Given the description of an element on the screen output the (x, y) to click on. 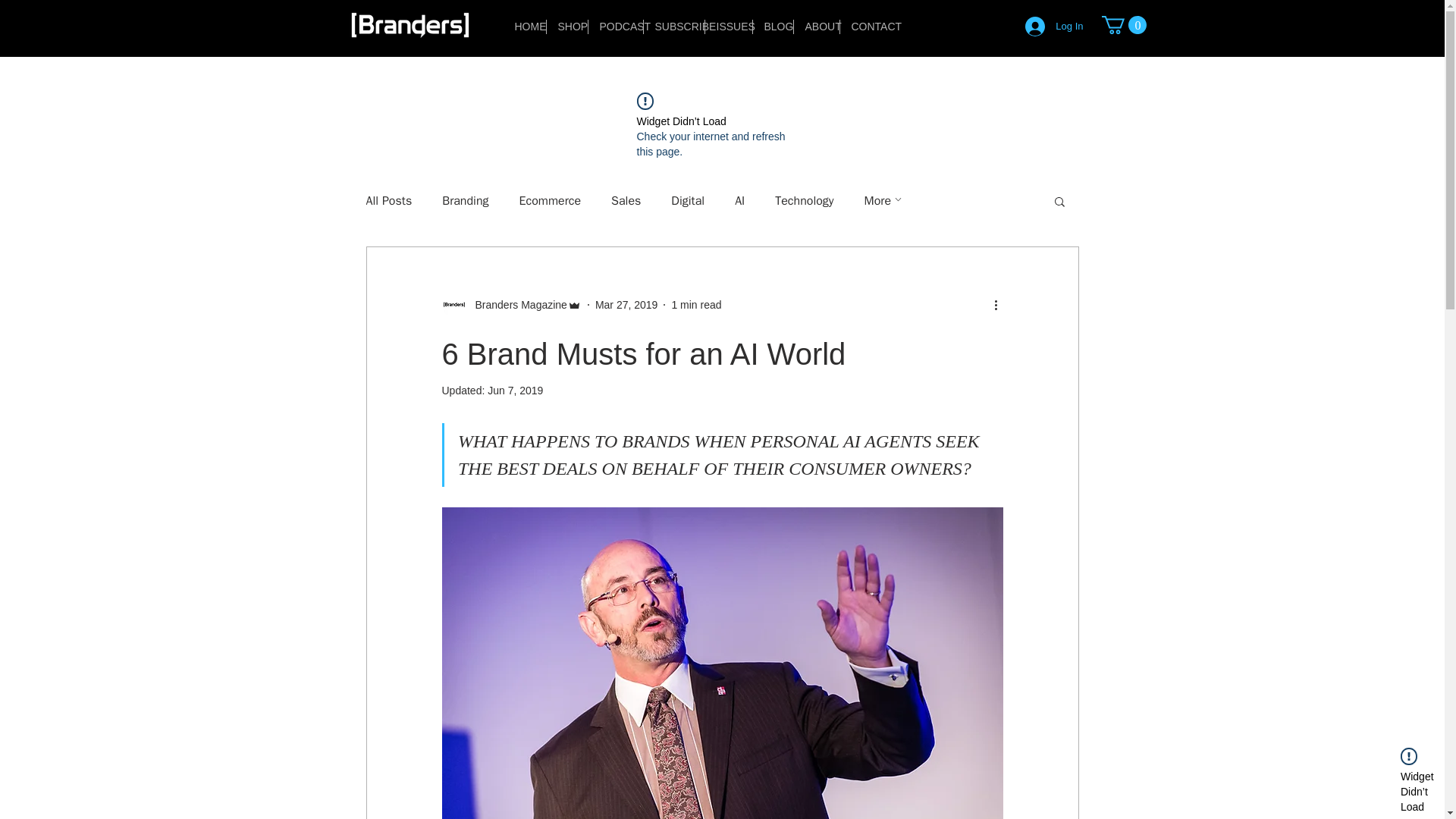
ISSUES (728, 26)
Jun 7, 2019 (515, 390)
Branders Magazine (510, 304)
Branders Magazine (515, 304)
Branding (464, 201)
0 (1122, 24)
Log In (1053, 26)
HOME (524, 26)
CONTACT (867, 26)
PODCAST (615, 26)
Sales (625, 201)
All Posts (388, 201)
1 min read (695, 304)
BLOG (772, 26)
0 (1122, 24)
